Given the description of an element on the screen output the (x, y) to click on. 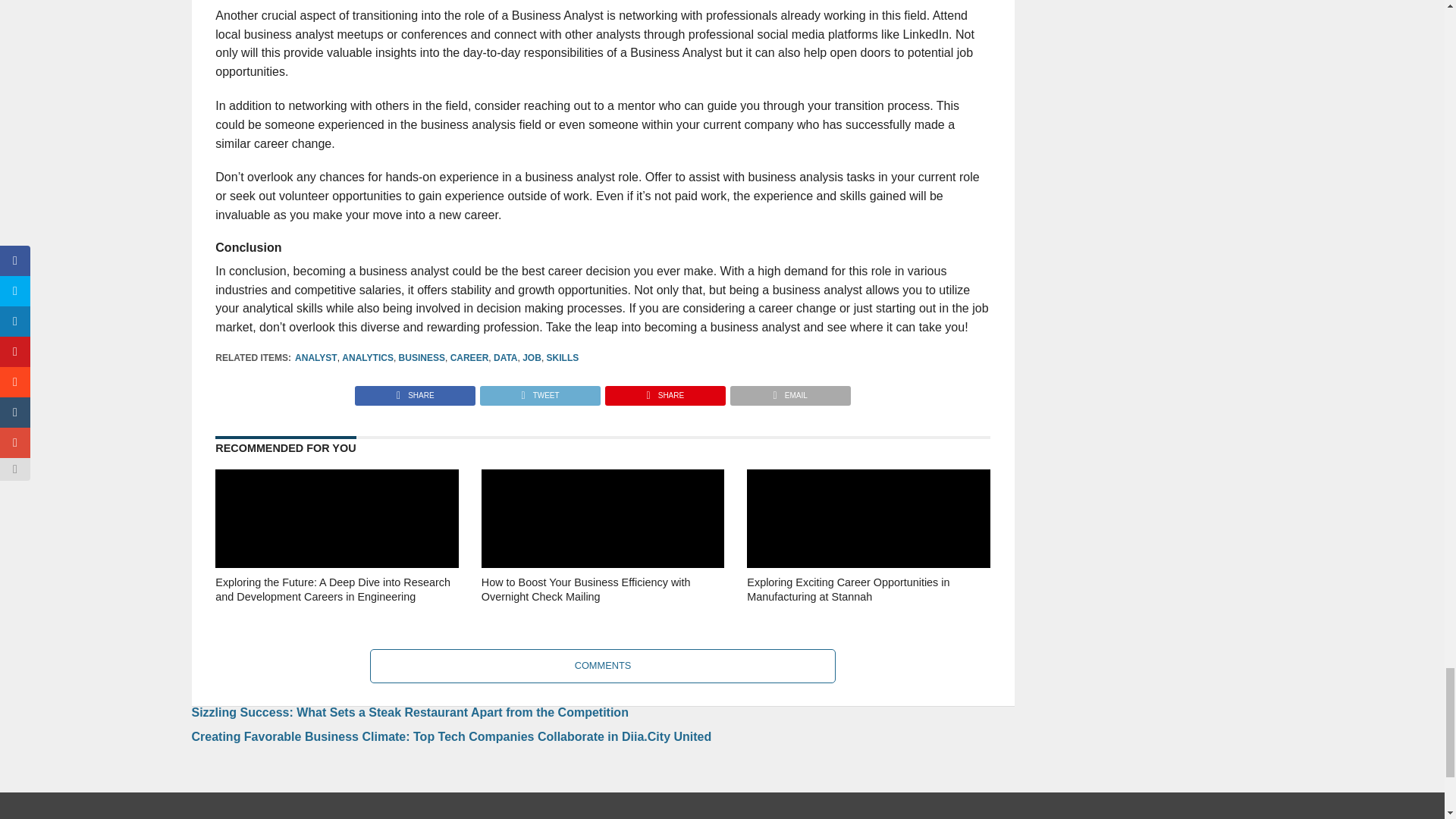
Share on Facebook (415, 391)
Tweet This Post (539, 391)
Pin This Post (664, 391)
